Given the description of an element on the screen output the (x, y) to click on. 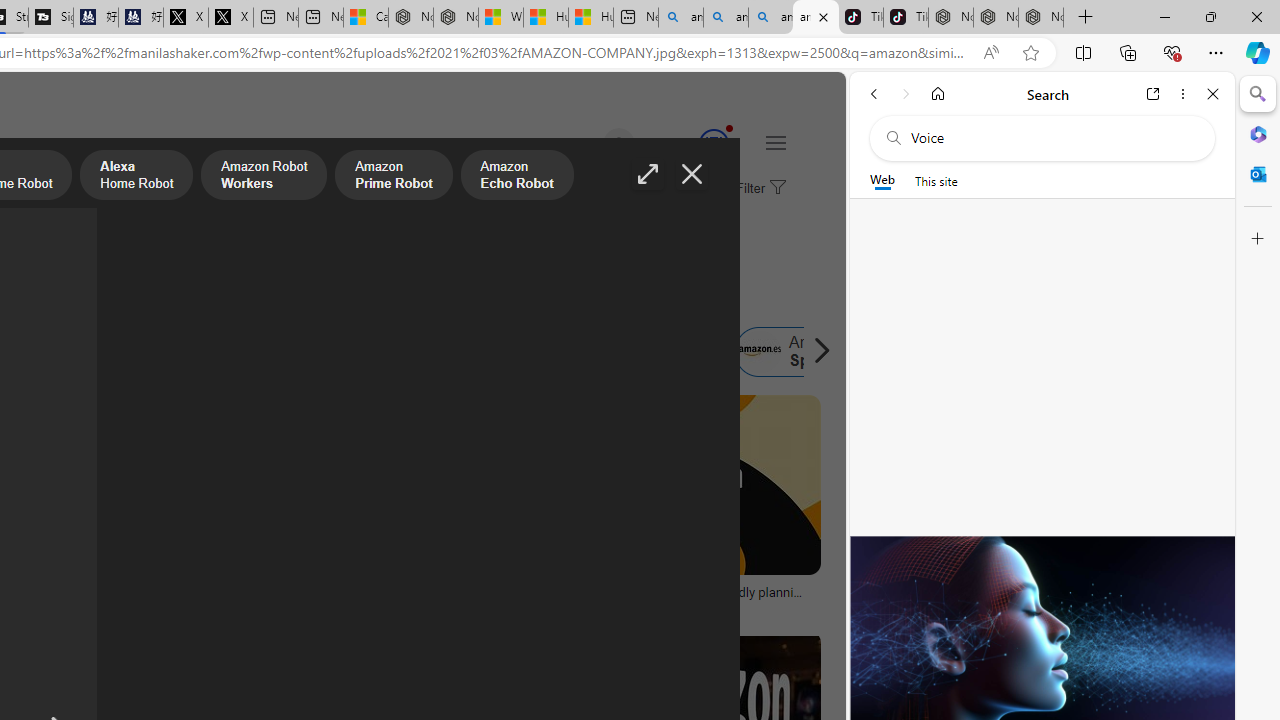
Amazon Prime Membership (44, 351)
Restore (1210, 16)
Amazon Forest (517, 351)
theverge.com (599, 605)
Microsoft Rewards 135 (690, 143)
Amazon Robot Workers (263, 177)
Amazon Prime Robot (394, 177)
downdetector.ae (368, 606)
Class: item col (801, 351)
Add this page to favorites (Ctrl+D) (1030, 53)
Amazon Shoes (618, 351)
